Given the description of an element on the screen output the (x, y) to click on. 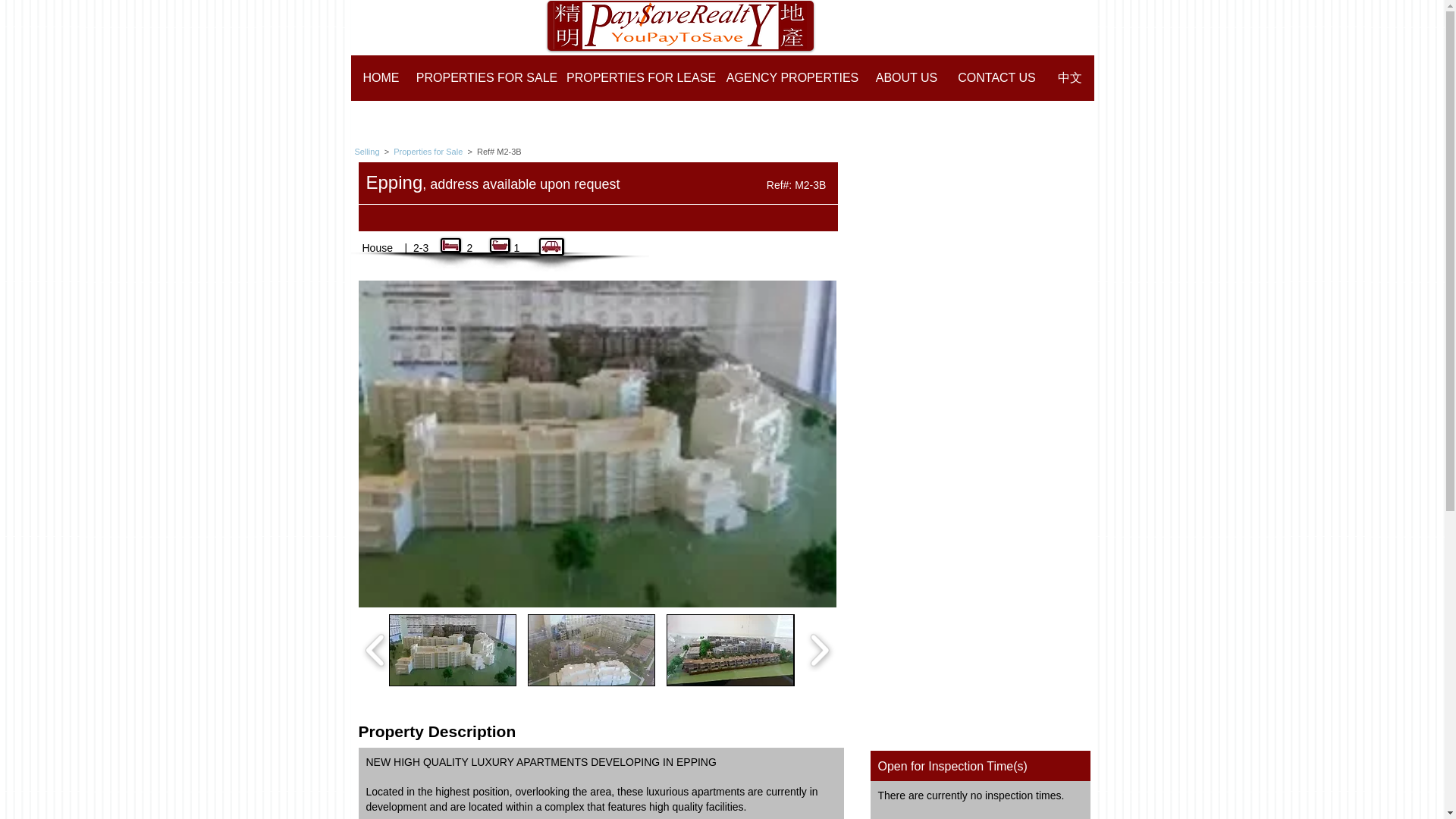
HOME (380, 77)
ABOUT US (905, 77)
Properties for Sale  (427, 151)
PROPERTIES FOR LEASE (641, 77)
CONTACT US (996, 77)
AGENCY PROPERTIES (792, 77)
Selling  (369, 151)
Google Maps (980, 588)
PROPERTIES FOR SALE (486, 77)
